Given the description of an element on the screen output the (x, y) to click on. 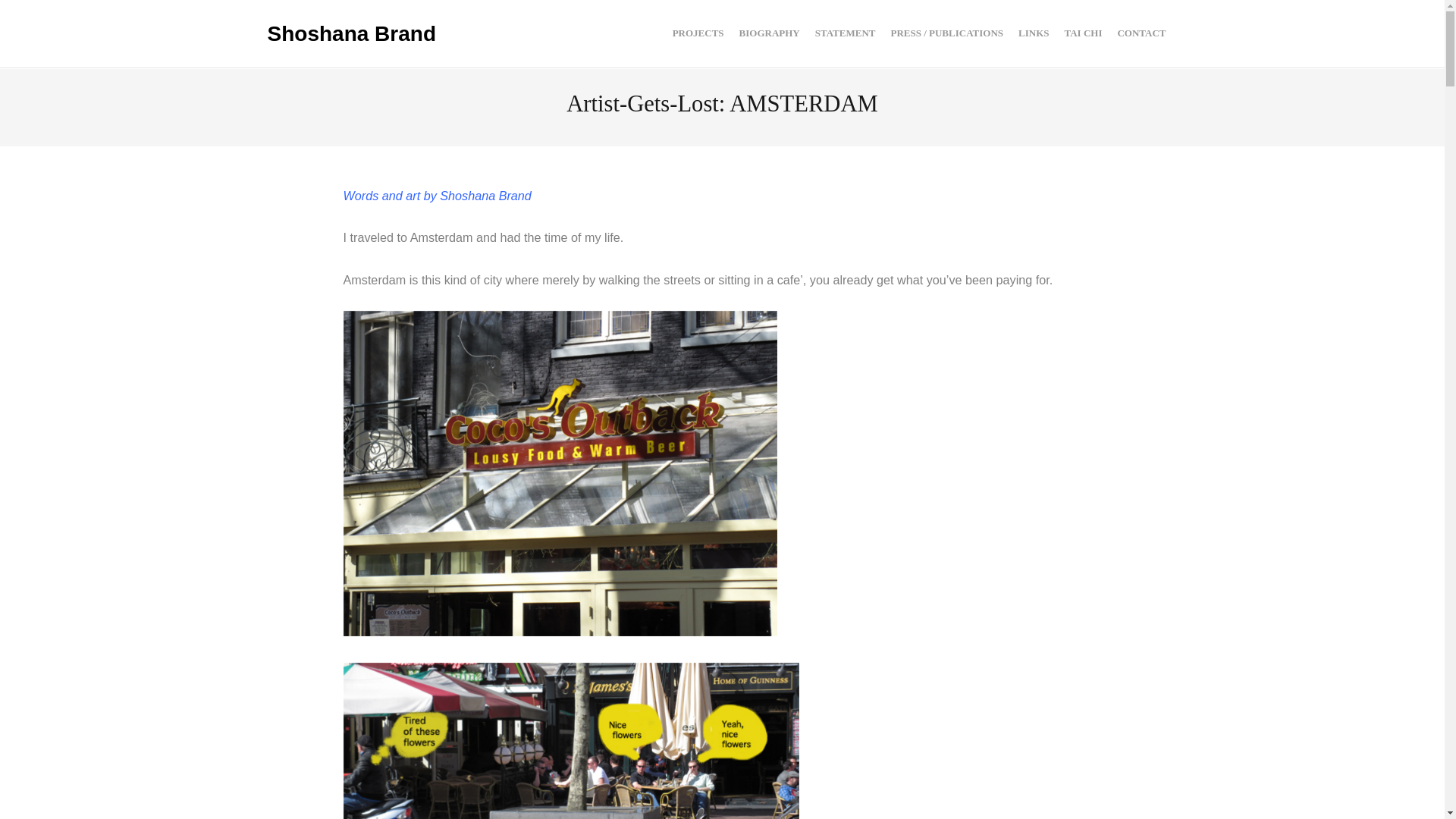
STATEMENT (845, 33)
PROJECTS (698, 33)
BIOGRAPHY (770, 33)
CONTACT (1141, 33)
Shoshana Brand (350, 34)
